Given the description of an element on the screen output the (x, y) to click on. 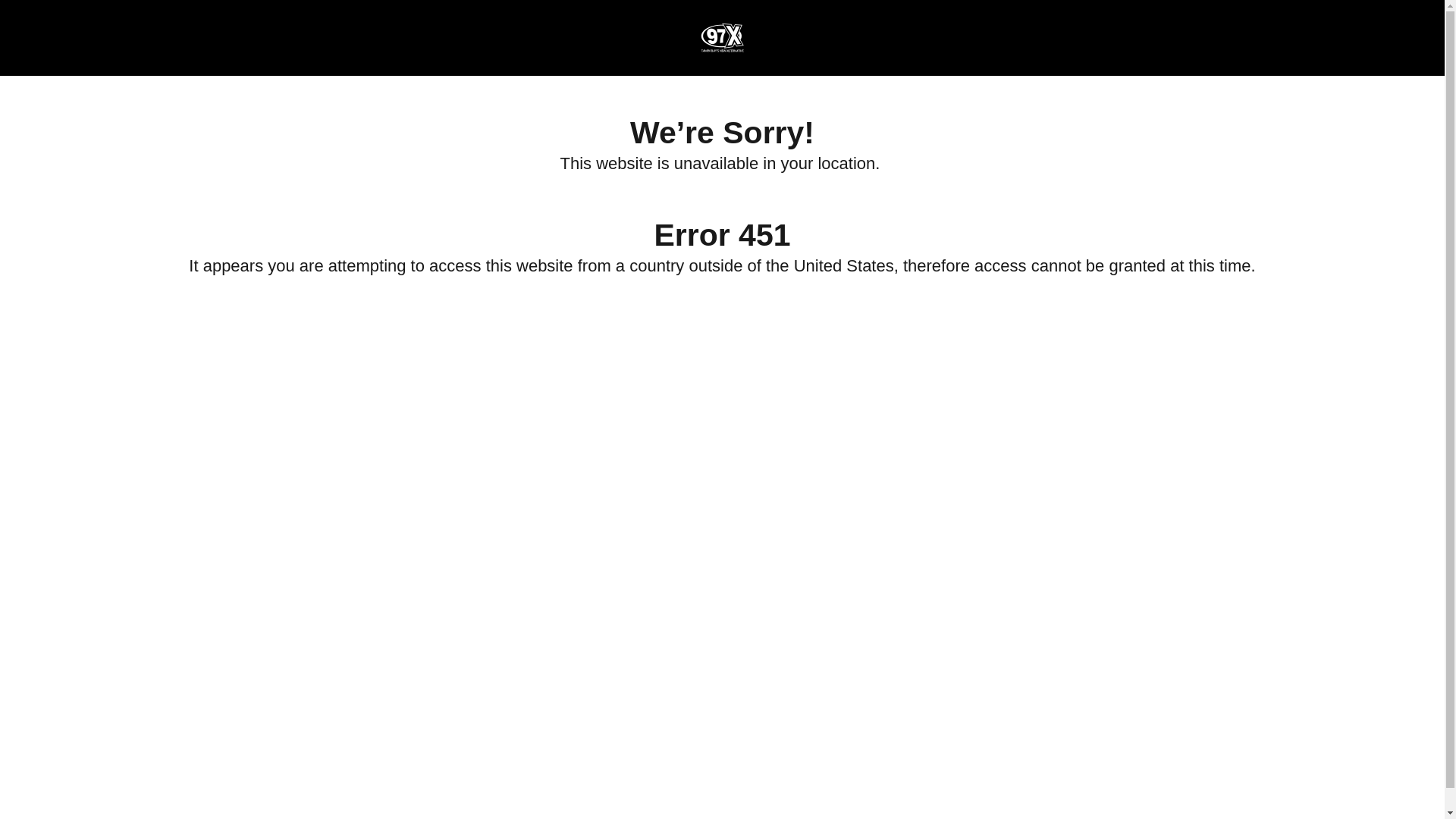
97X (721, 37)
